Given the description of an element on the screen output the (x, y) to click on. 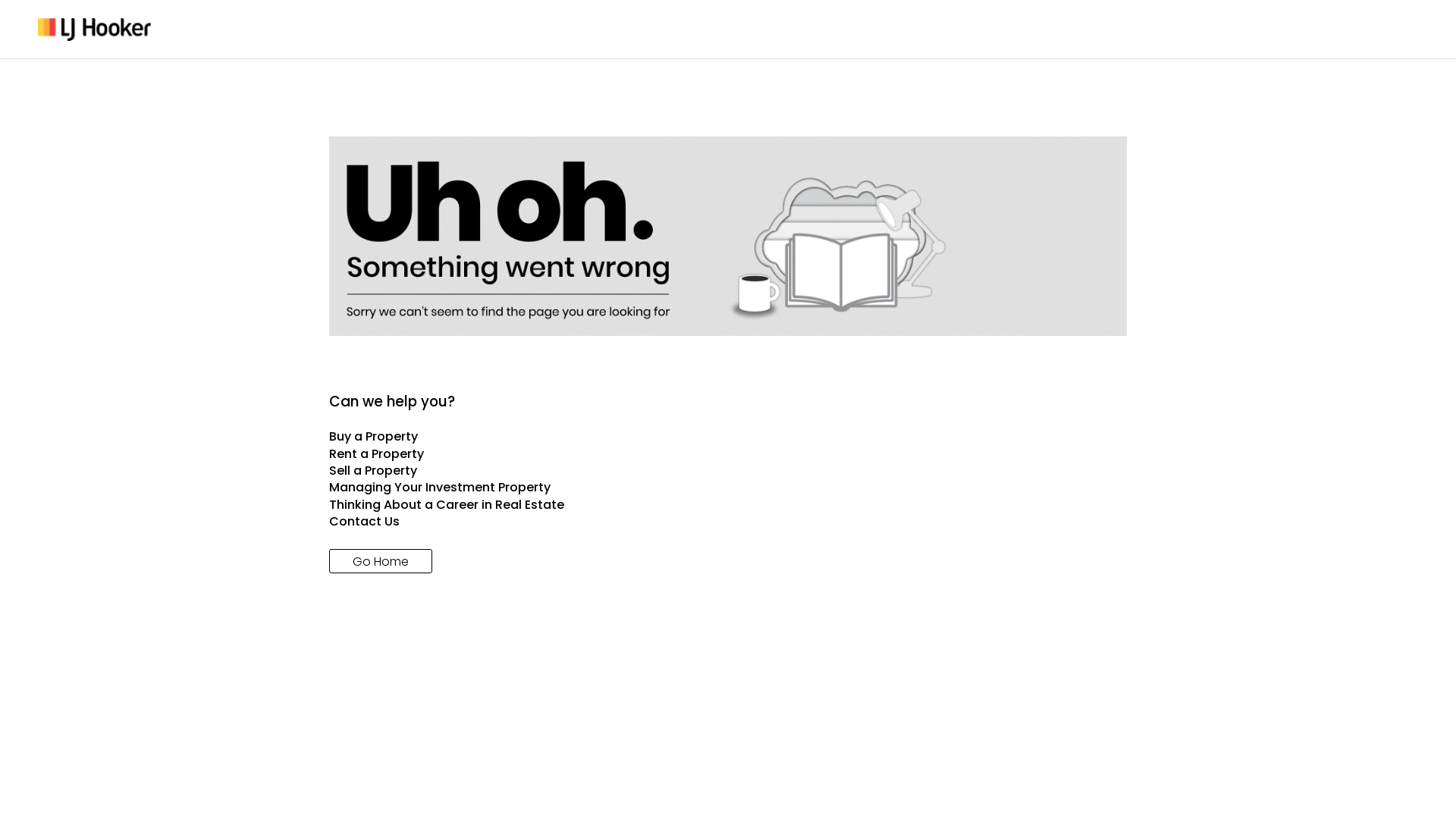
Buy a Property Element type: text (727, 436)
Sell a Property Element type: text (727, 470)
Contact Us Element type: text (727, 521)
Managing Your Investment Property Element type: text (727, 487)
Rent a Property Element type: text (727, 453)
Thinking About a Career in Real Estate Element type: text (727, 504)
Go Home Element type: text (380, 561)
